Given the description of an element on the screen output the (x, y) to click on. 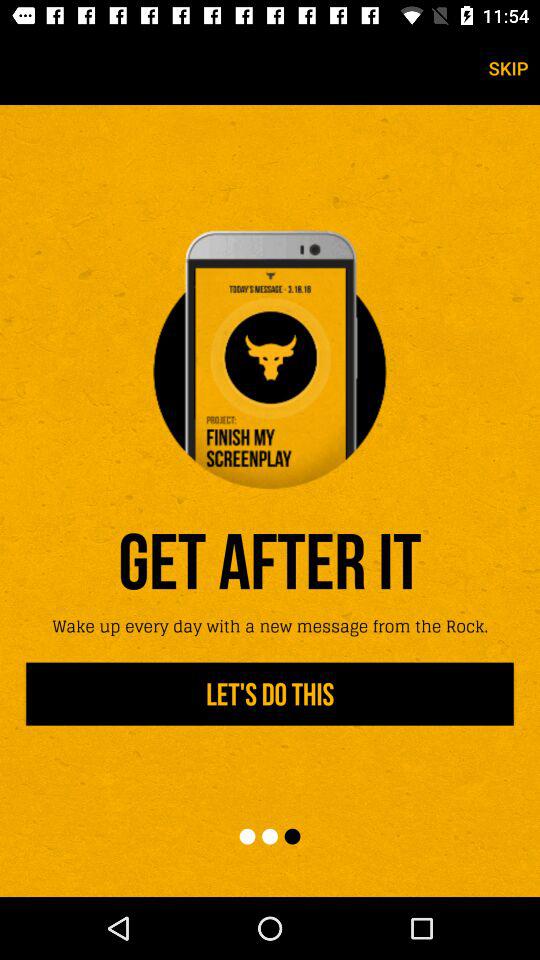
jump until let s do item (269, 693)
